Given the description of an element on the screen output the (x, y) to click on. 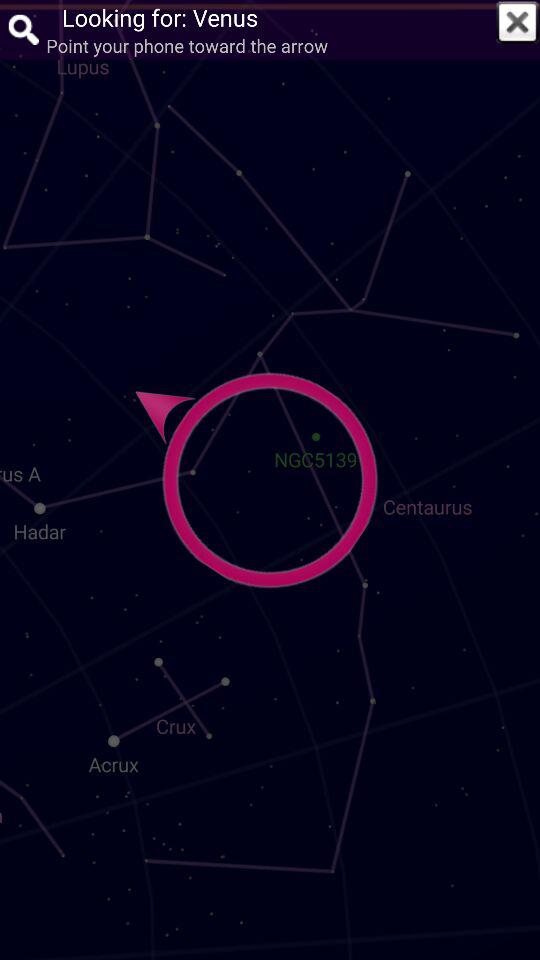
close window (517, 22)
